Given the description of an element on the screen output the (x, y) to click on. 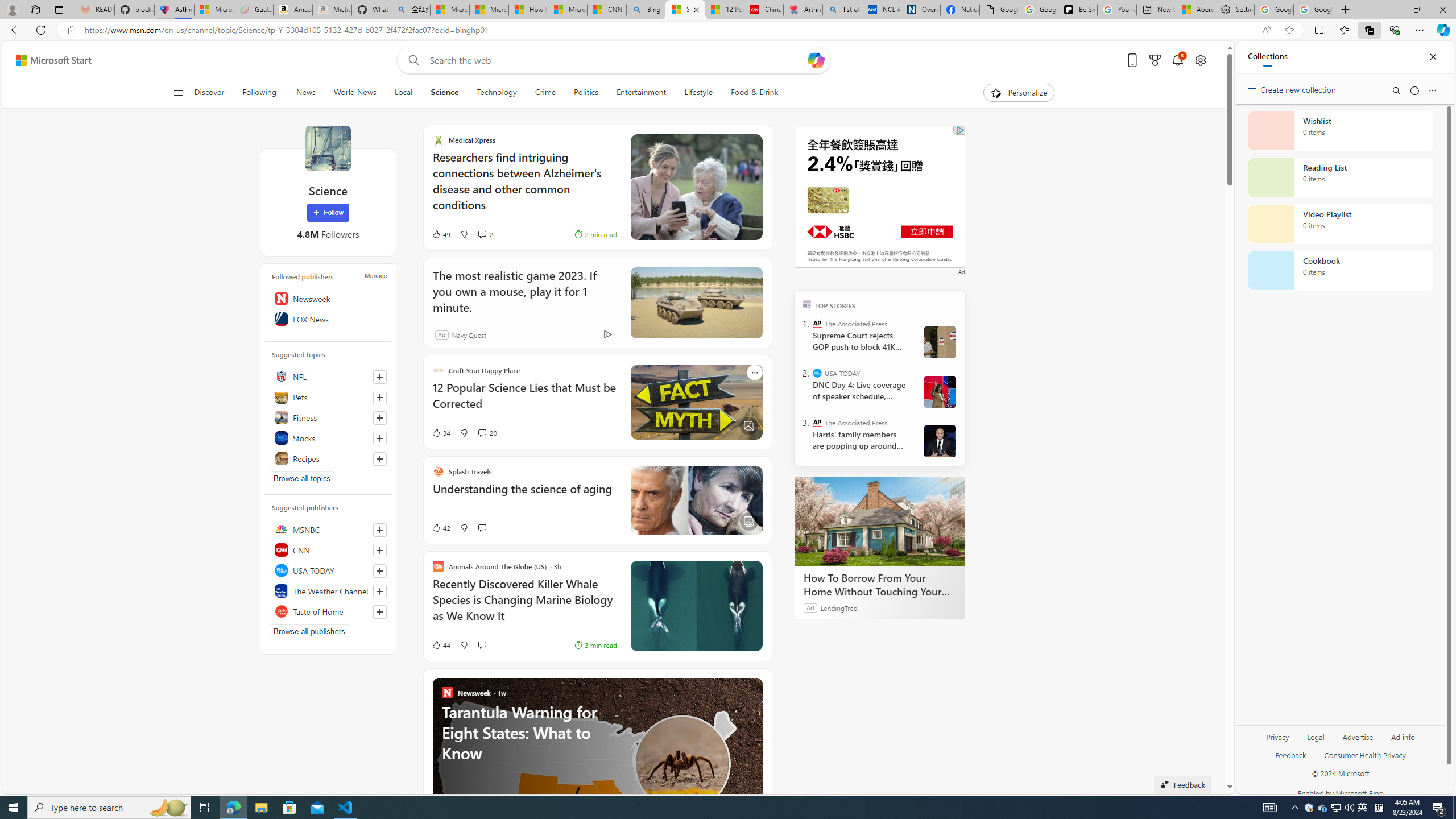
12 Popular Science Lies that Must be Corrected (524, 401)
NCL Adult Asthma Inhaler Choice Guideline (881, 9)
Local (403, 92)
MSNBC (327, 529)
View comments 2 Comment (469, 234)
